Given the description of an element on the screen output the (x, y) to click on. 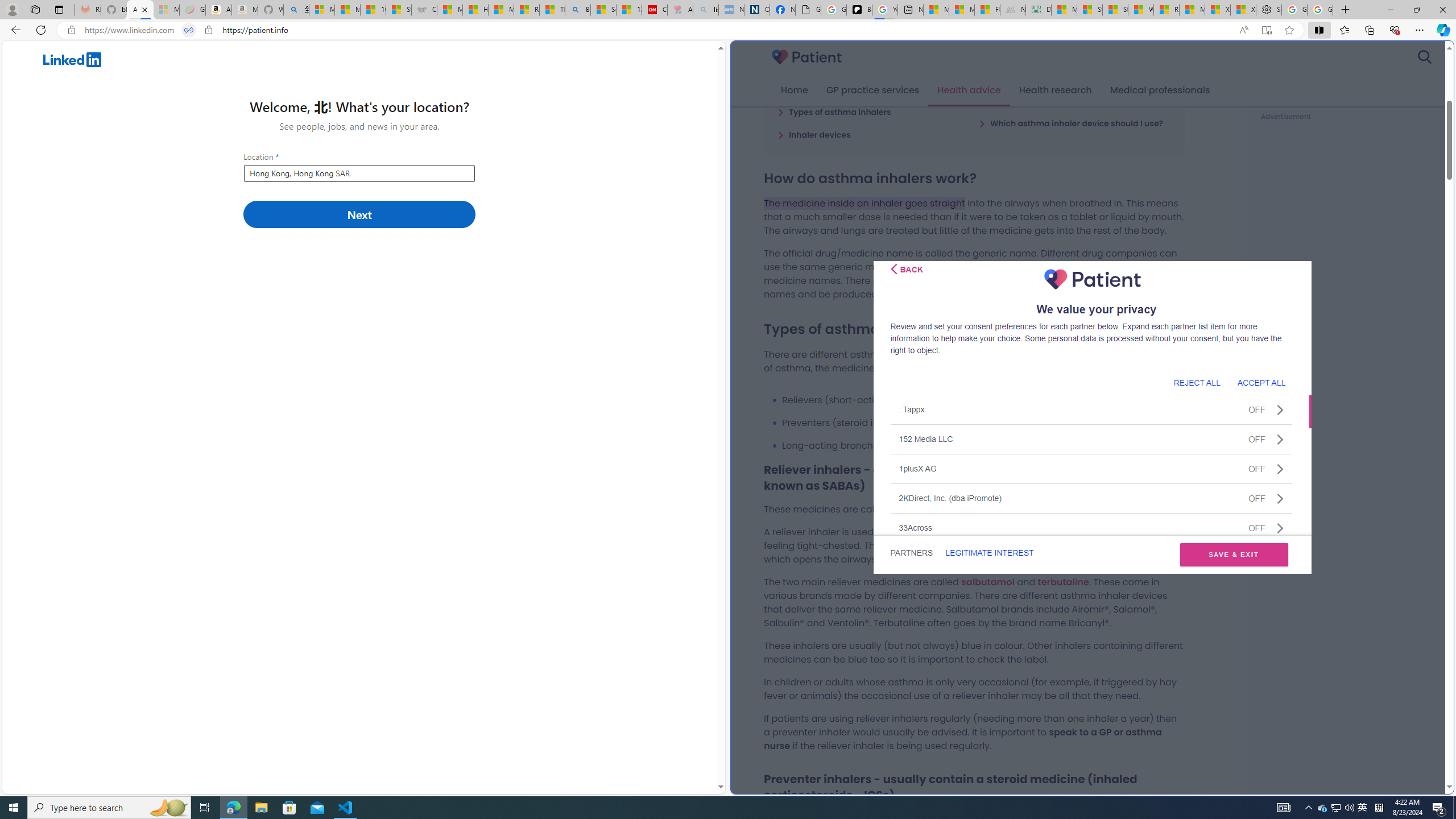
1plusX AGOFF (1090, 468)
Inhaler devices (813, 134)
33AcrossOFF (1090, 527)
Tabs in split screen (189, 29)
Relievers (short-acting bronchodilators). (983, 400)
SAVE & EXIT (1233, 554)
